Given the description of an element on the screen output the (x, y) to click on. 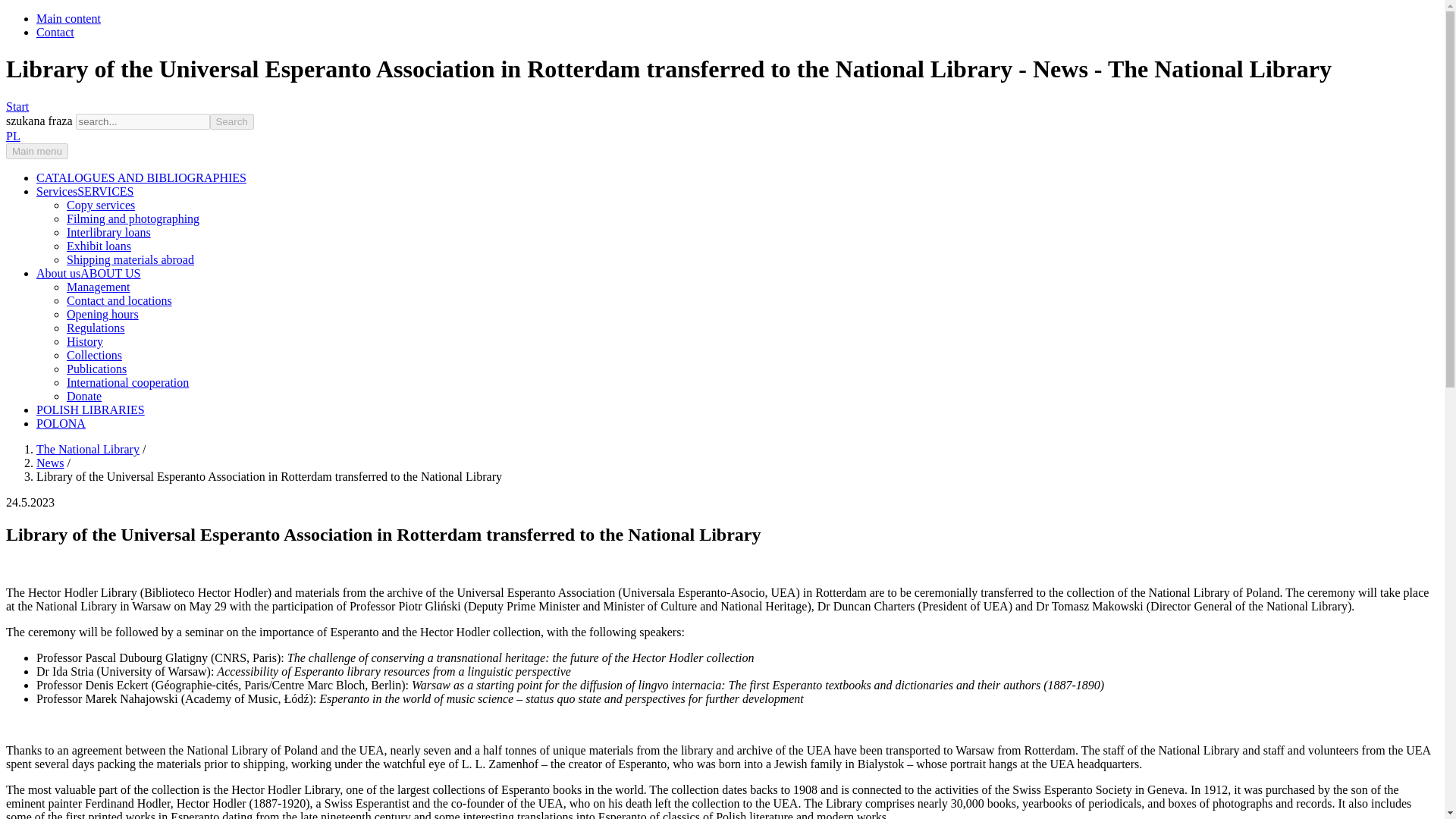
Interlibrary loans (108, 232)
Filming and photographing (132, 218)
Search (231, 121)
Copy services (100, 205)
CATALOGUES AND BIBLIOGRAPHIES (141, 177)
Publications (96, 368)
Regulations (94, 327)
History (84, 341)
Management (98, 286)
Exhibit loans (98, 245)
SERVICES (105, 191)
Collections (94, 354)
PL (12, 135)
Contact and locations (118, 300)
News (50, 462)
